Given the description of an element on the screen output the (x, y) to click on. 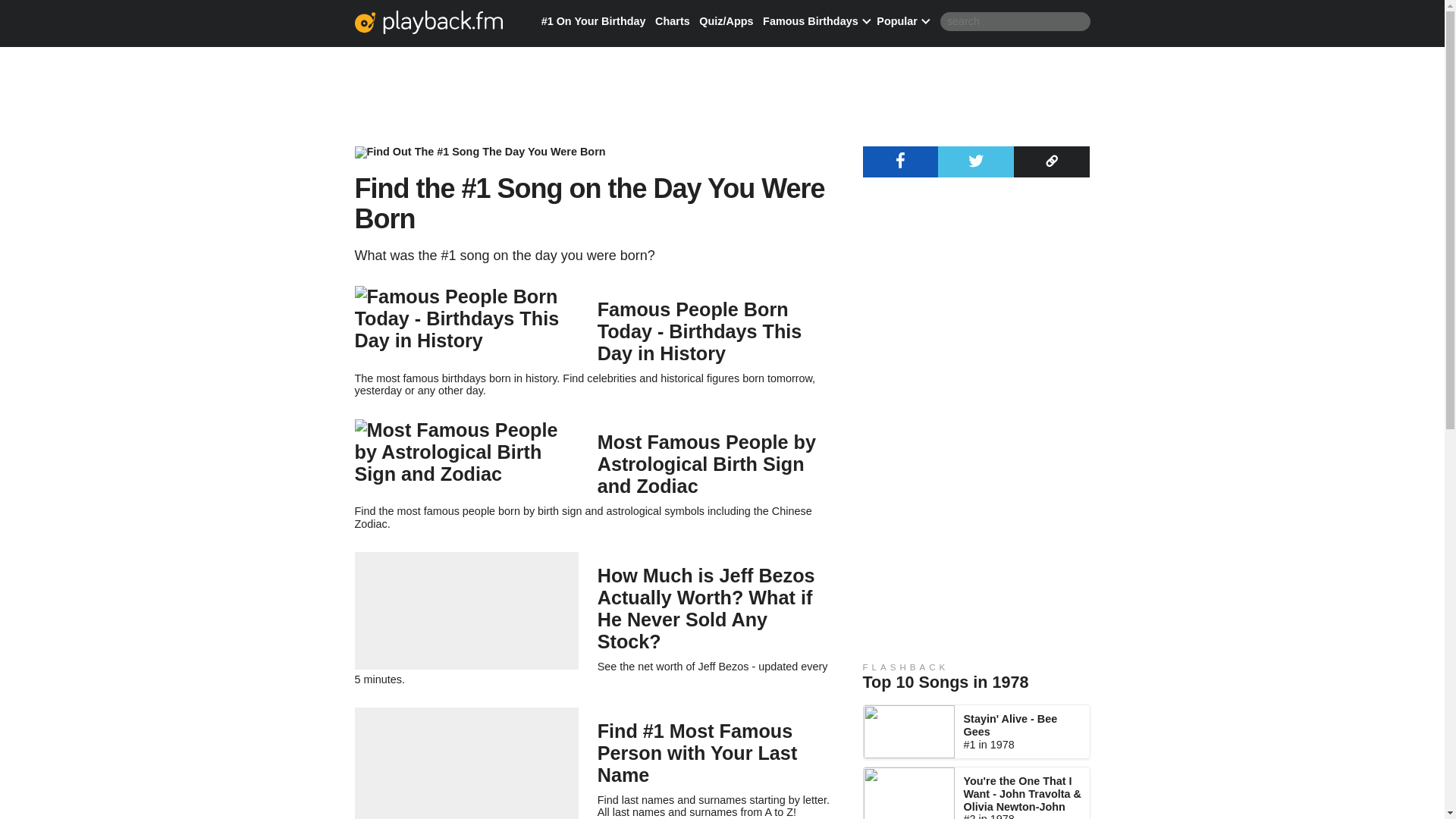
Most Famous People by Astrological Birth Sign and Zodiac (705, 463)
Famous People Born Today - Birthdays This Day in History (699, 330)
Charts (672, 21)
